Given the description of an element on the screen output the (x, y) to click on. 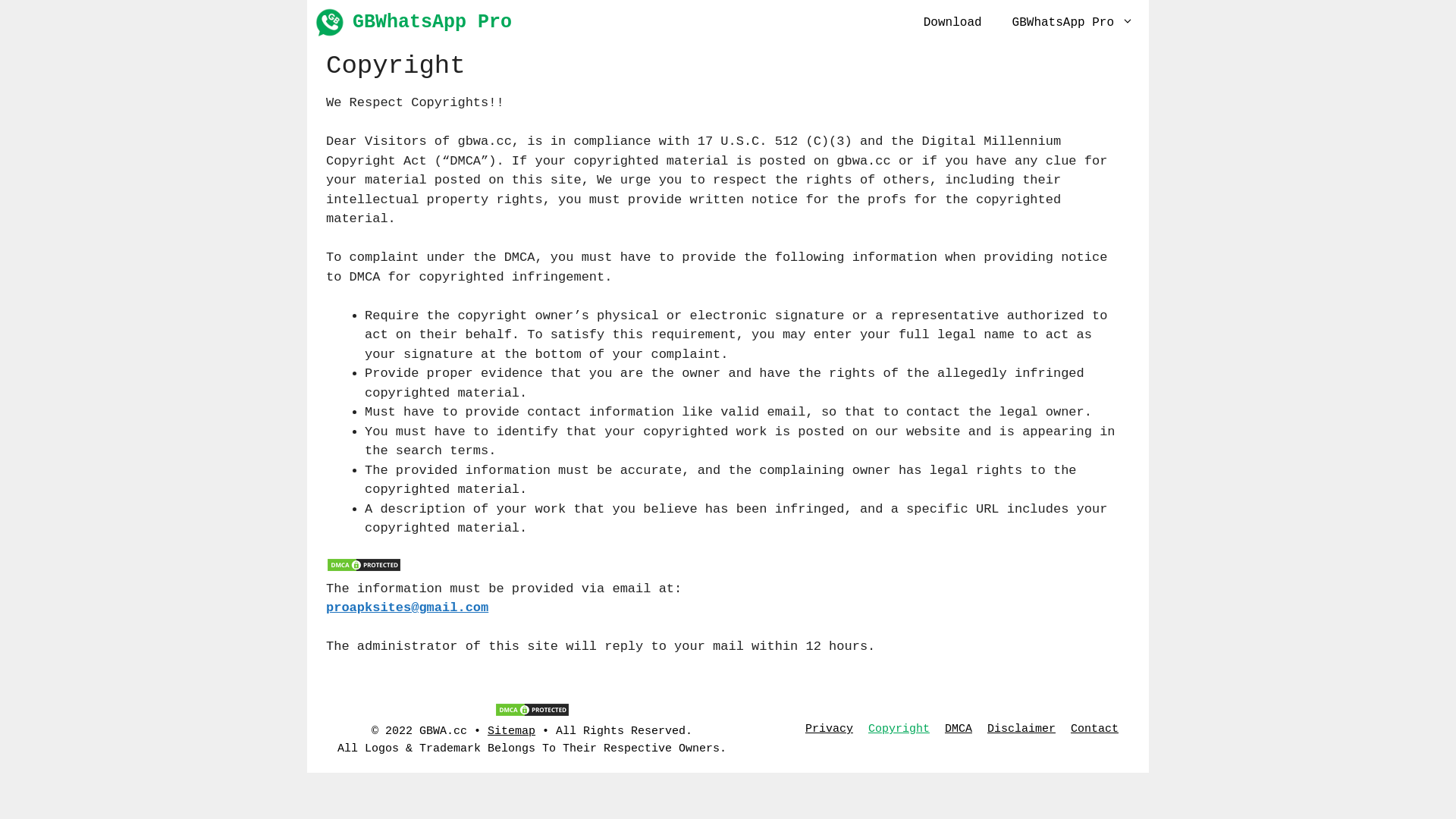
Copyright Element type: text (898, 728)
Sitemap Element type: text (511, 730)
Privacy Element type: text (829, 728)
Download Element type: text (952, 22)
GBWhatsApp Pro Element type: hover (329, 22)
GBWhatsApp Pro Element type: text (1072, 22)
Disclaimer Element type: text (1021, 728)
DMCA.com Protection Status Element type: hover (532, 714)
DMCA Element type: text (958, 728)
proapksites@gmail.com Element type: text (407, 607)
GBWhatsApp Pro Element type: text (431, 22)
Contact Element type: text (1094, 728)
DMCA.com Protection Status Element type: hover (363, 568)
